Given the description of an element on the screen output the (x, y) to click on. 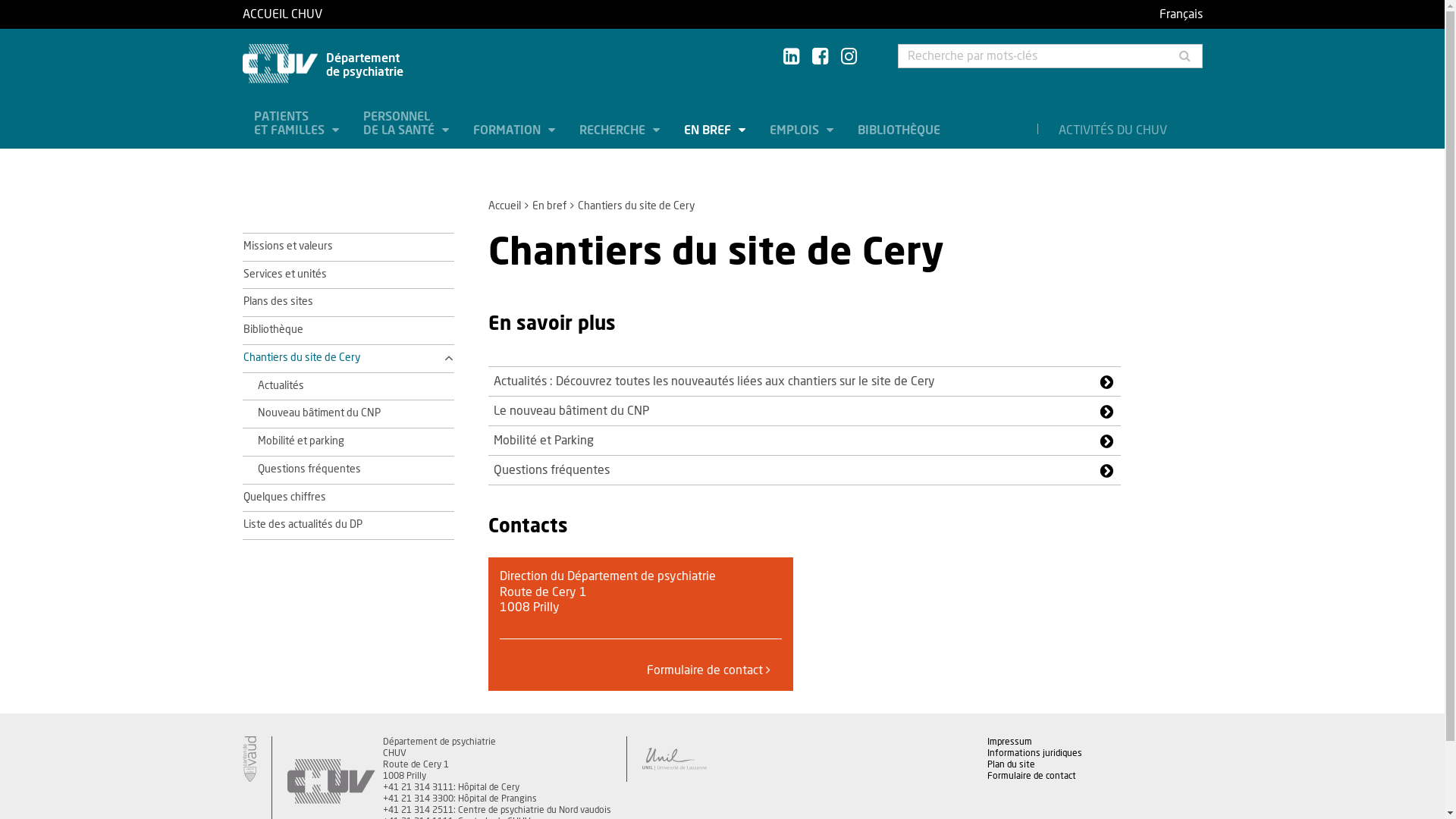
Informations juridiques Element type: text (1034, 752)
ACCUEIL CHUV Element type: text (394, 14)
Impressum Element type: text (1009, 741)
Chantiers du site de Cery Element type: text (337, 358)
@CHUV sur Instagram Element type: hover (848, 56)
Missions et valeurs Element type: text (287, 246)
Accueil Element type: text (504, 205)
EN BREF Element type: text (713, 130)
Plans des sites Element type: text (277, 301)
CHUV sur Linkedin+ Element type: hover (790, 56)
@CHUV sur Facebook Element type: hover (819, 56)
Formulaire de contact Element type: text (1031, 775)
PATIENTS
ET FAMILLES Element type: text (296, 123)
Quelques chiffres Element type: text (283, 496)
FORMATION Element type: text (513, 130)
Formulaire de contact Element type: text (707, 670)
EMPLOIS Element type: text (801, 130)
En bref Element type: text (549, 205)
Plan du site Element type: text (1011, 763)
RECHERCHE Element type: text (618, 130)
